Given the description of an element on the screen output the (x, y) to click on. 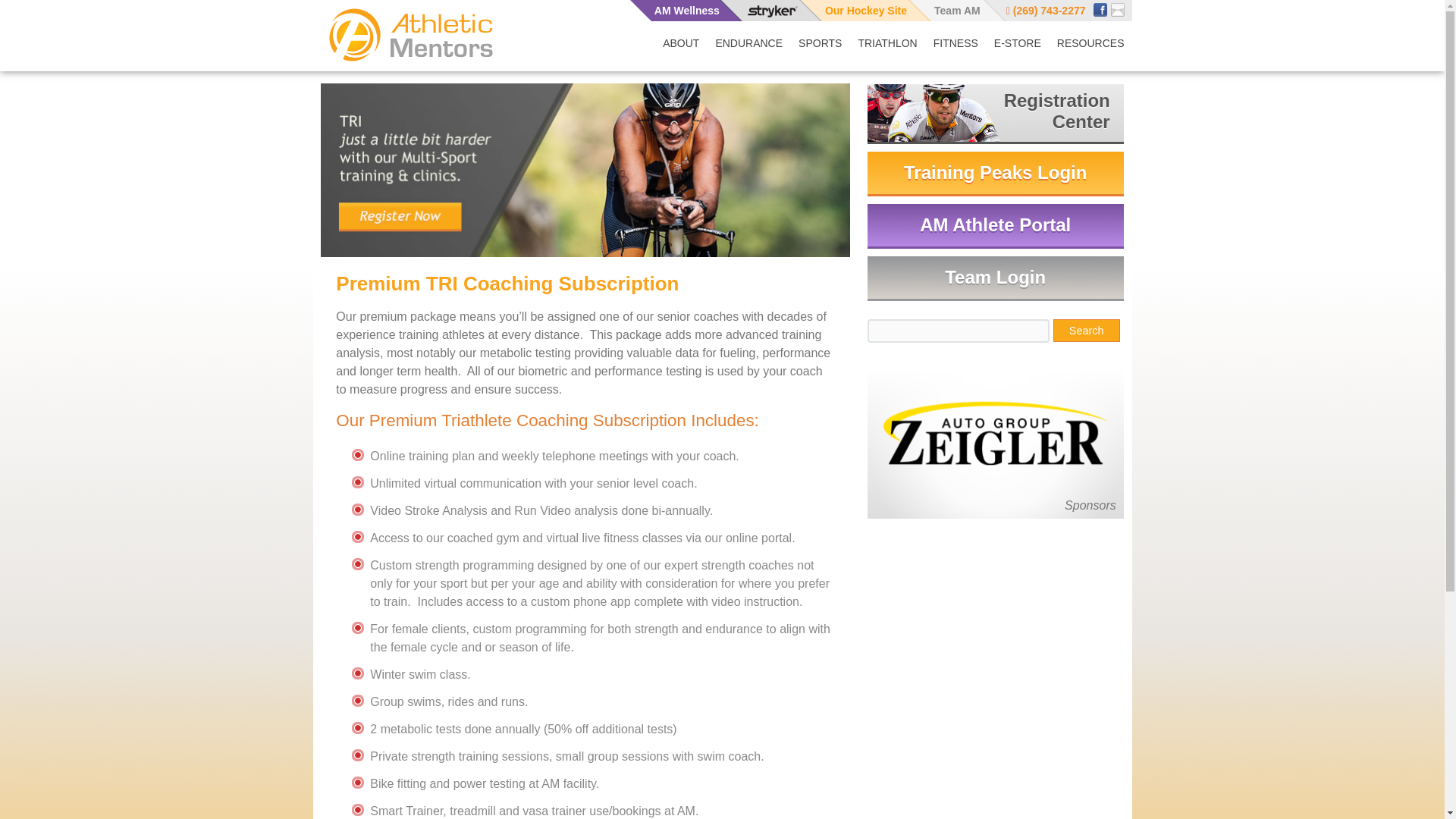
Team AM (946, 10)
2019-Sponsor-Ziegler (995, 432)
ABOUT (680, 42)
ENDURANCE (748, 42)
Our Hockey Site (853, 10)
Search (1085, 330)
Facebook (1101, 8)
Contact Us (1117, 8)
SPORTS (819, 42)
AM Wellness (684, 10)
Athletic Mentors - Leaders in Performance Programming (410, 34)
